Given the description of an element on the screen output the (x, y) to click on. 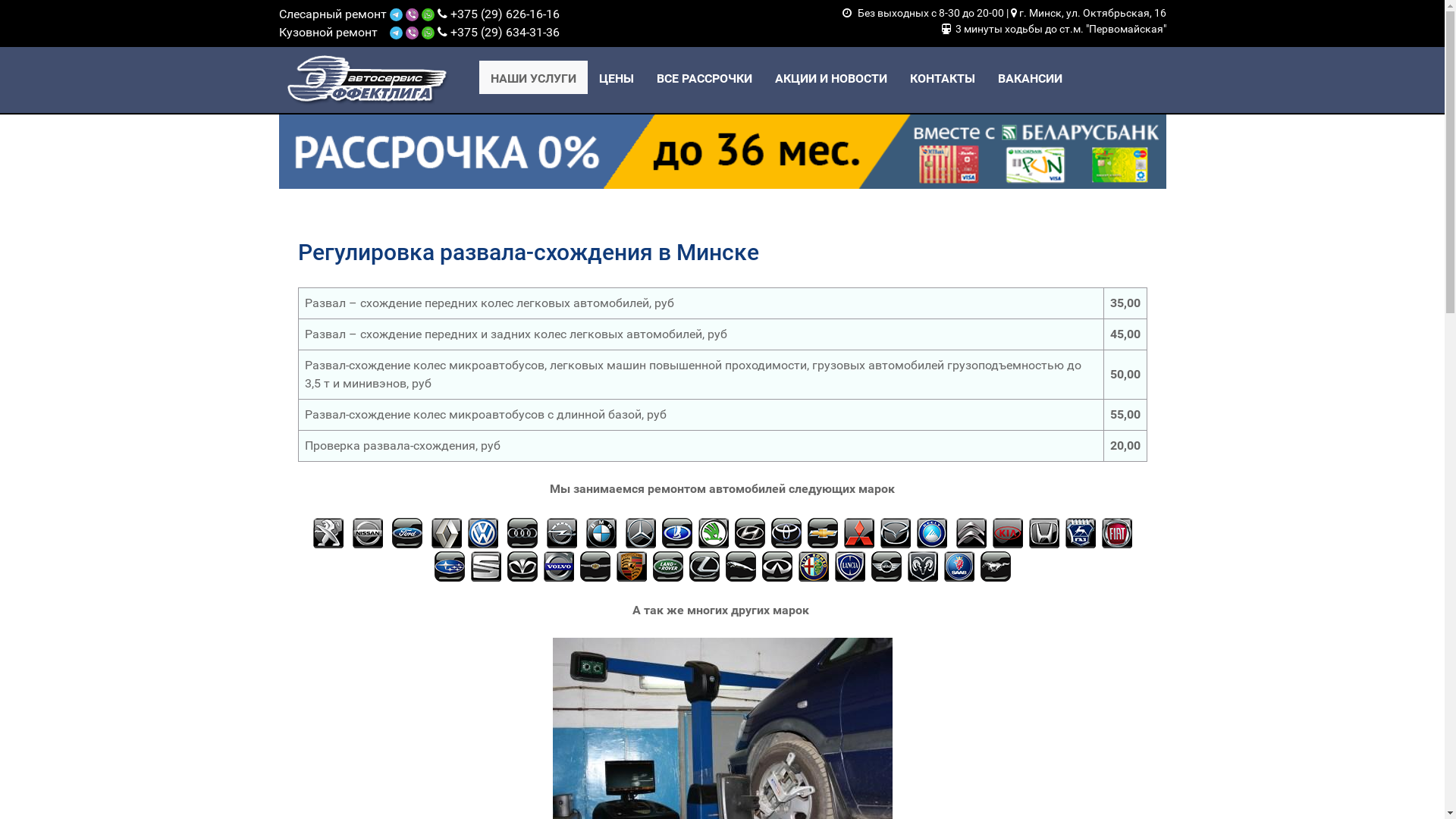
+375 (29) 626-16-16 Element type: text (504, 13)
+375 (29) 634-31-36 Element type: text (504, 32)
Gantry 5 Element type: hover (367, 79)
